Given the description of an element on the screen output the (x, y) to click on. 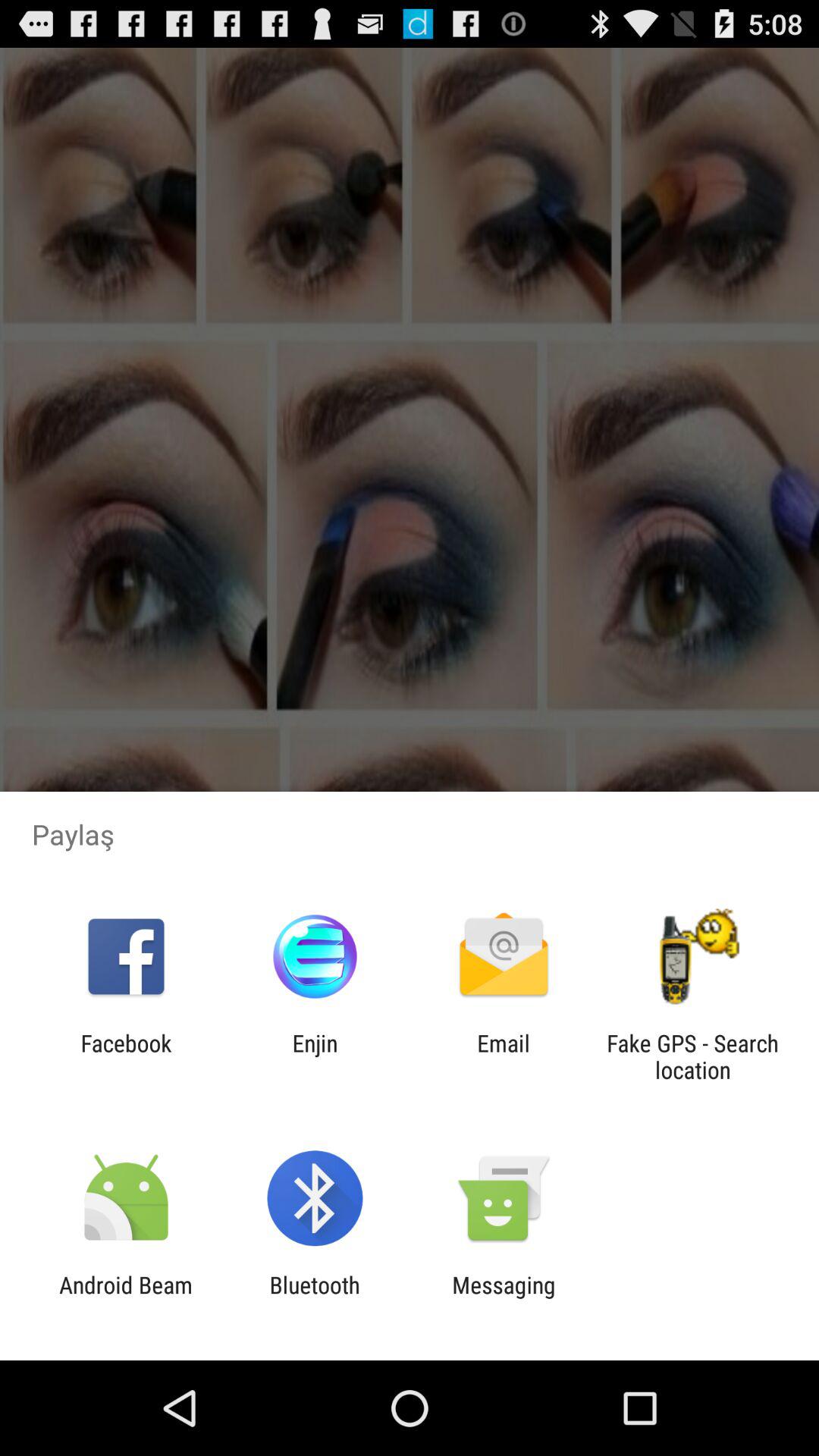
click item to the left of enjin (125, 1056)
